Given the description of an element on the screen output the (x, y) to click on. 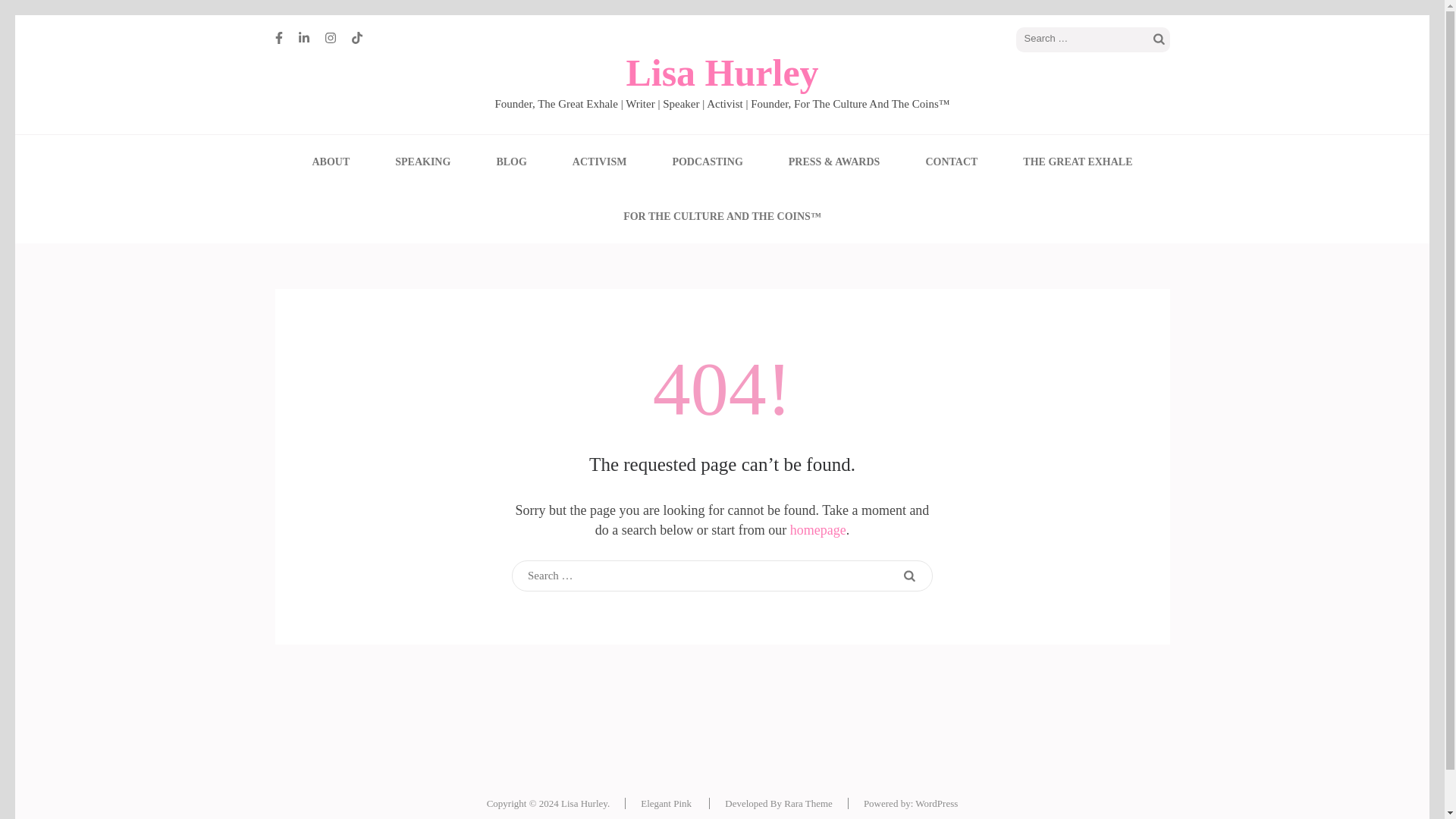
Rara Theme (808, 803)
SPEAKING (421, 161)
CONTACT (950, 161)
Search (909, 575)
Lisa Hurley (722, 72)
homepage (817, 529)
WordPress (936, 803)
Search (1158, 39)
Search (1158, 39)
Lisa Hurley (583, 803)
ACTIVISM (599, 161)
THE GREAT EXHALE (1077, 161)
PODCASTING (706, 161)
Search (1158, 39)
Search (909, 575)
